Given the description of an element on the screen output the (x, y) to click on. 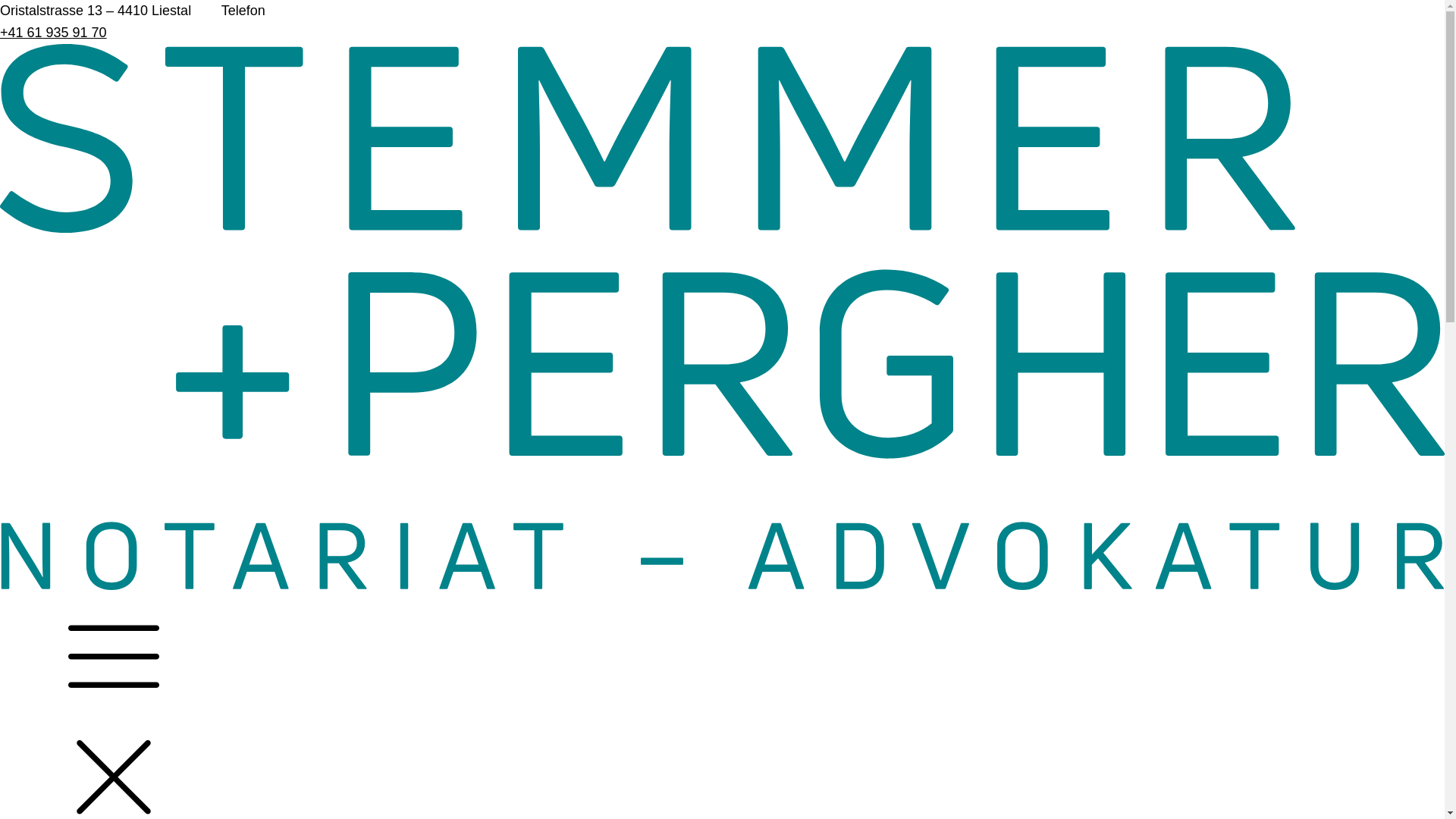
+41 61 935 91 70 Element type: text (53, 32)
